Given the description of an element on the screen output the (x, y) to click on. 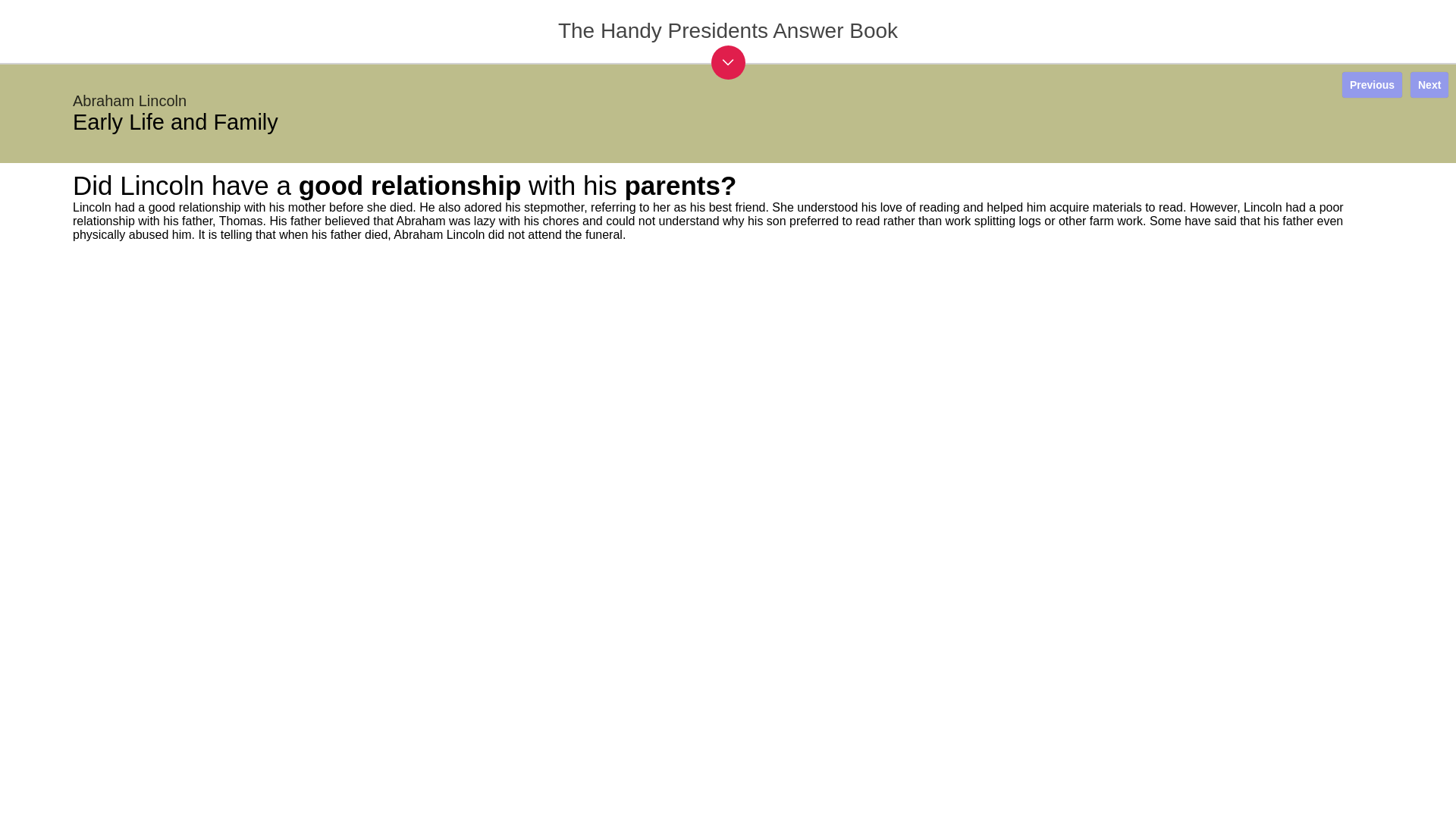
Previous (1372, 84)
Next (1429, 84)
